Given the description of an element on the screen output the (x, y) to click on. 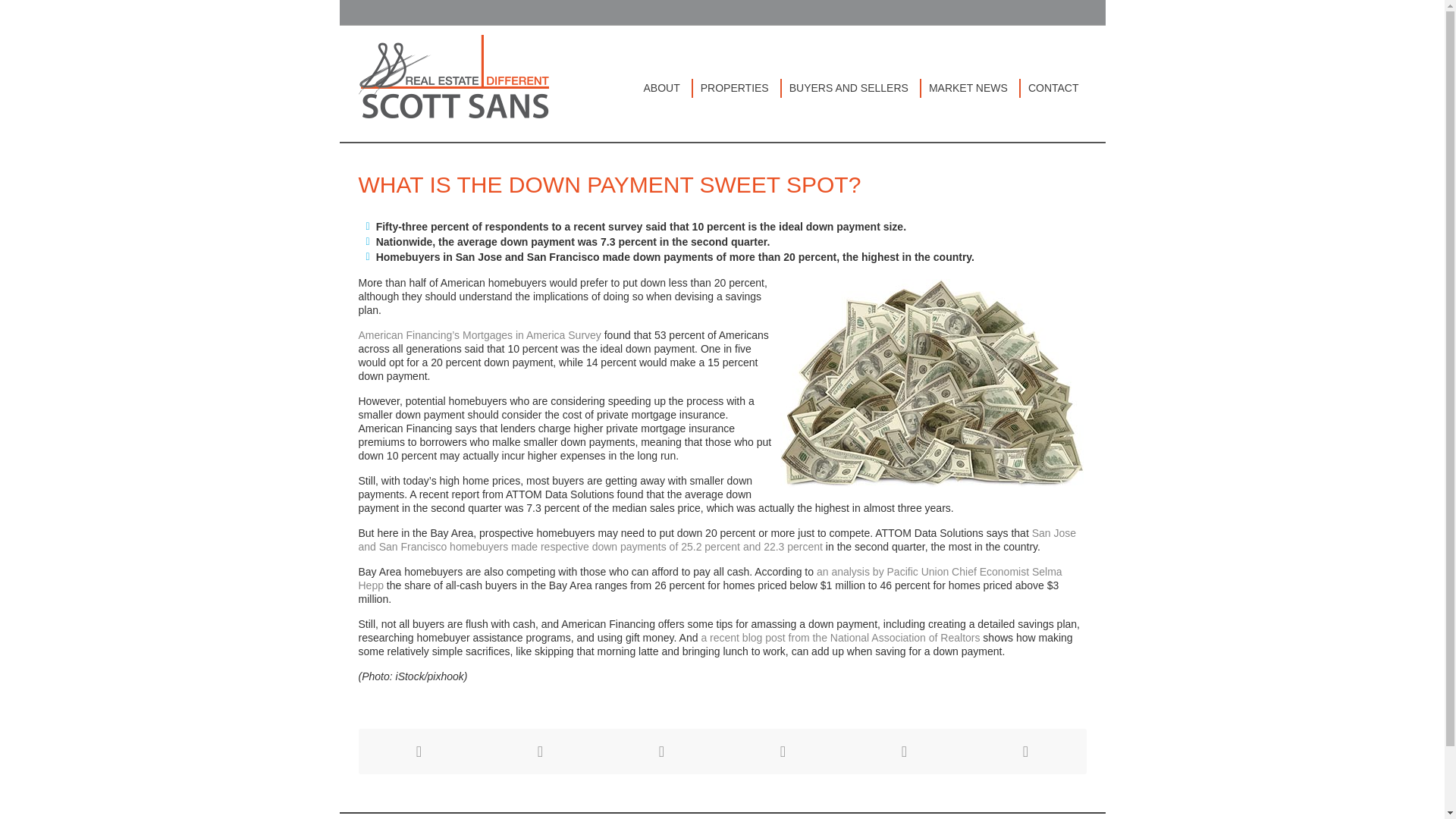
a recent blog post from the National Association of Realtors (839, 637)
BUYERS AND SELLERS (851, 87)
MARKET NEWS (970, 87)
ABOUT (663, 87)
CONTACT (1053, 87)
an analysis by Pacific Union Chief Economist Selma Hepp (709, 578)
PROPERTIES (737, 87)
